Given the description of an element on the screen output the (x, y) to click on. 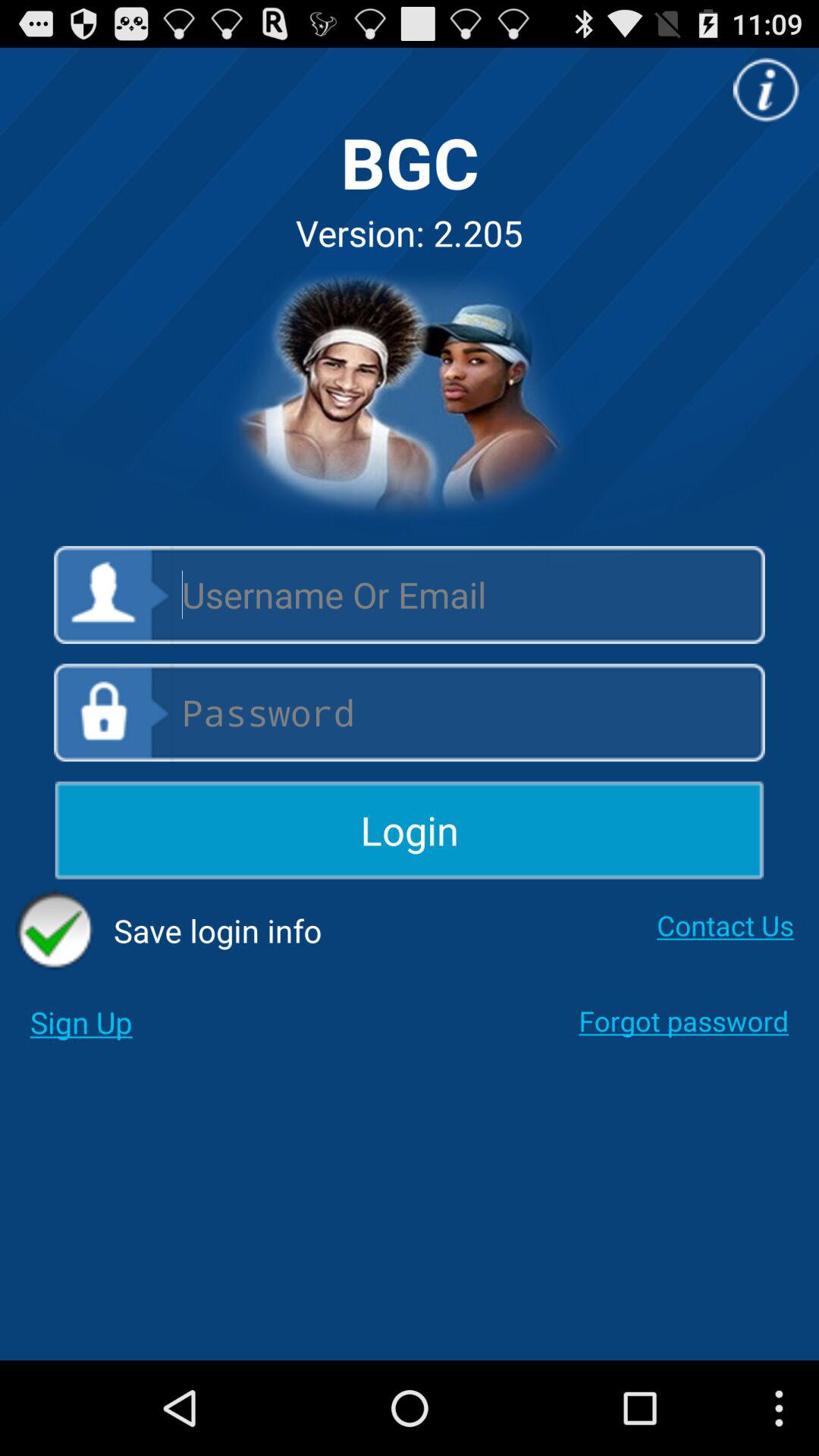
click the app to the left of the contact us (168, 930)
